Given the description of an element on the screen output the (x, y) to click on. 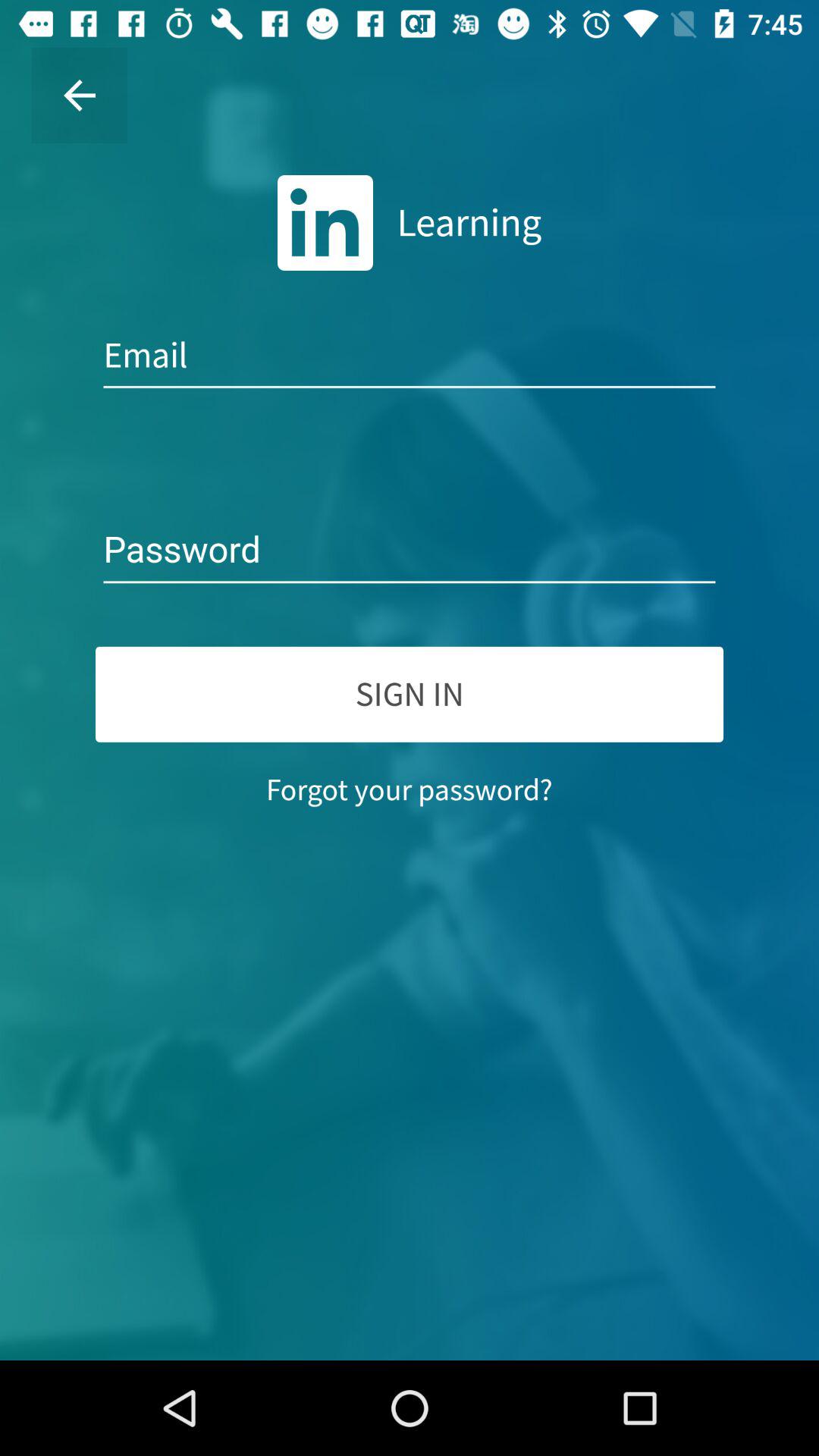
turn off item below sign in (409, 789)
